Given the description of an element on the screen output the (x, y) to click on. 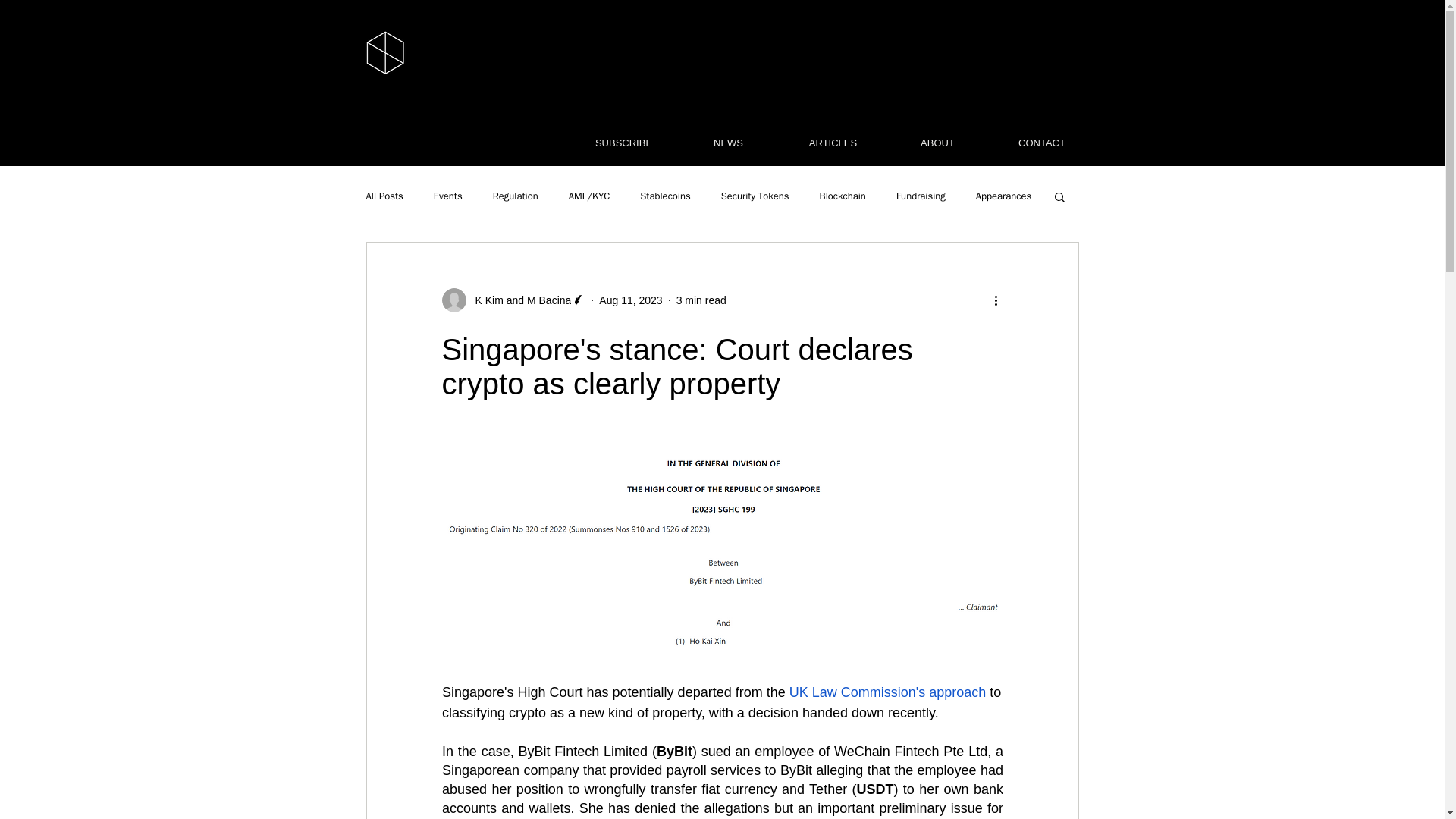
Events (448, 196)
ABOUT (937, 142)
Appearances (1002, 196)
K Kim and M Bacina (517, 300)
All Posts (384, 196)
ARTICLES (832, 142)
Security Tokens (754, 196)
UK Law Commission's approac (883, 692)
3 min read (701, 300)
Blockchain (842, 196)
Stablecoins (665, 196)
SUBSCRIBE (624, 142)
CONTACT (1042, 142)
Aug 11, 2023 (630, 300)
Fundraising (920, 196)
